Given the description of an element on the screen output the (x, y) to click on. 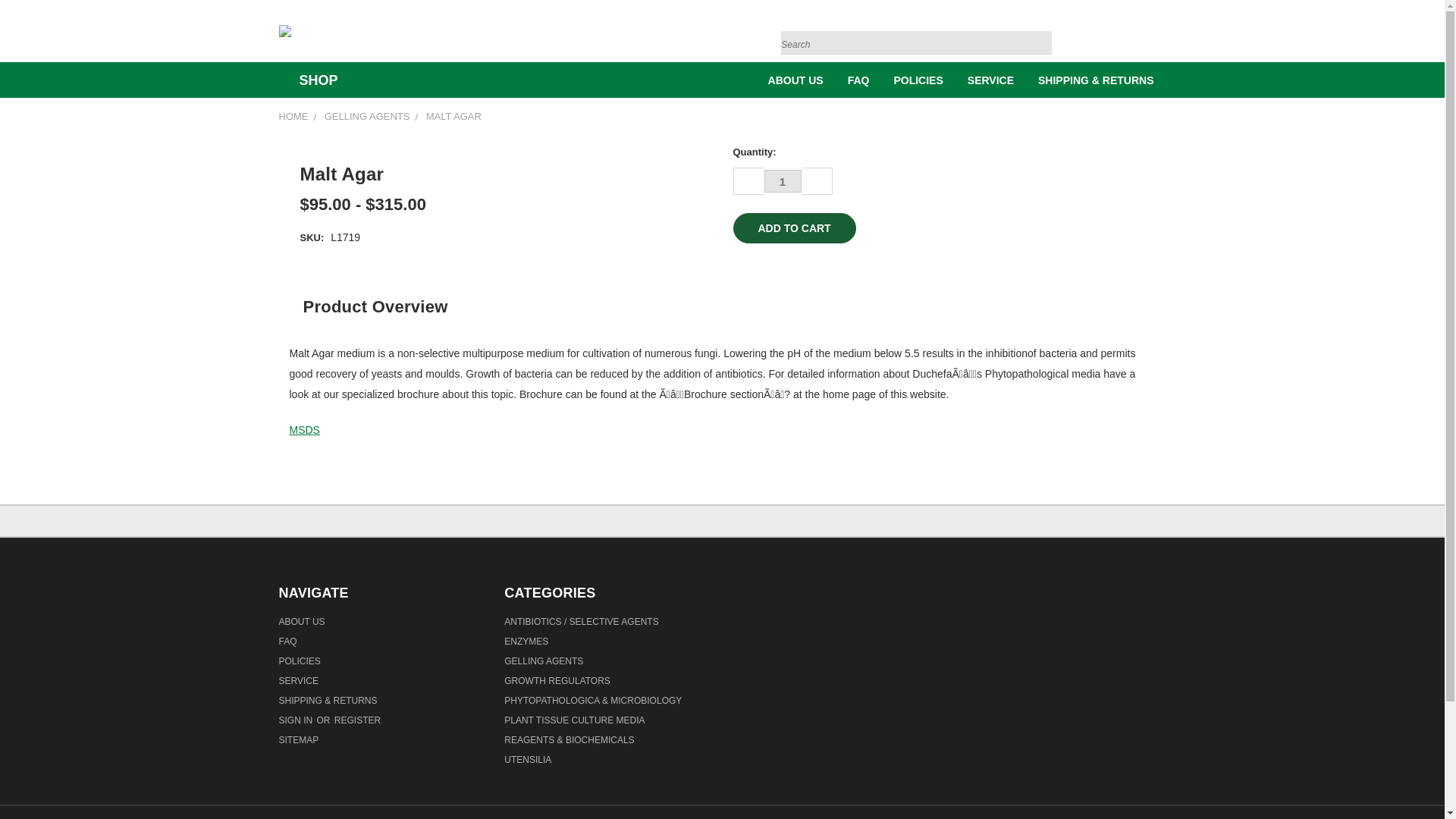
MSDS (304, 429)
HOME (293, 116)
FAQ (858, 79)
Add to Cart (794, 227)
DECREASE QUANTITY: (747, 180)
SHOP (314, 79)
DuchefaDirect (285, 30)
ABOUT US (795, 79)
GELLING AGENTS (367, 116)
Cart (1161, 34)
